Given the description of an element on the screen output the (x, y) to click on. 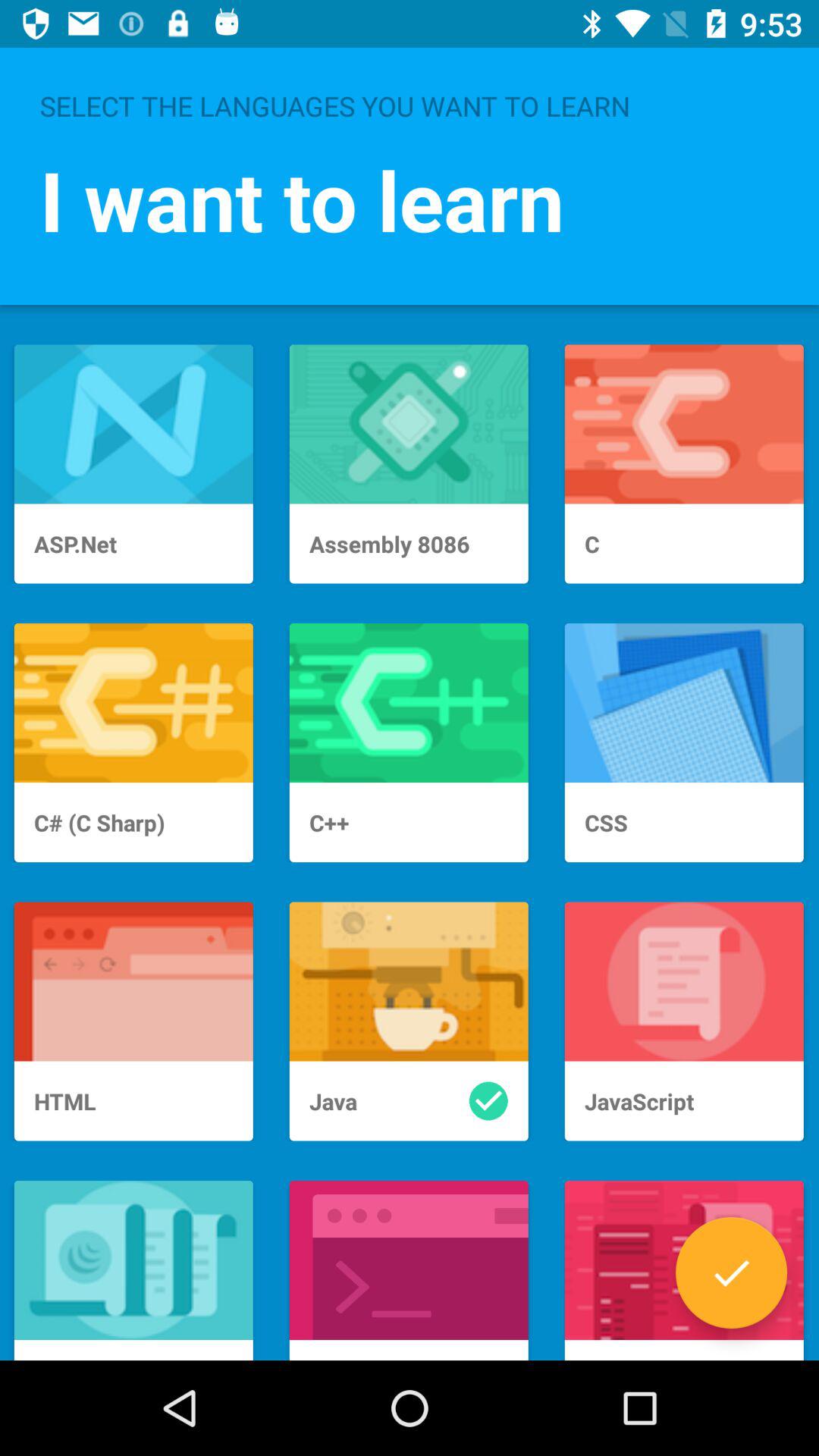
learn a skill (731, 1272)
